Given the description of an element on the screen output the (x, y) to click on. 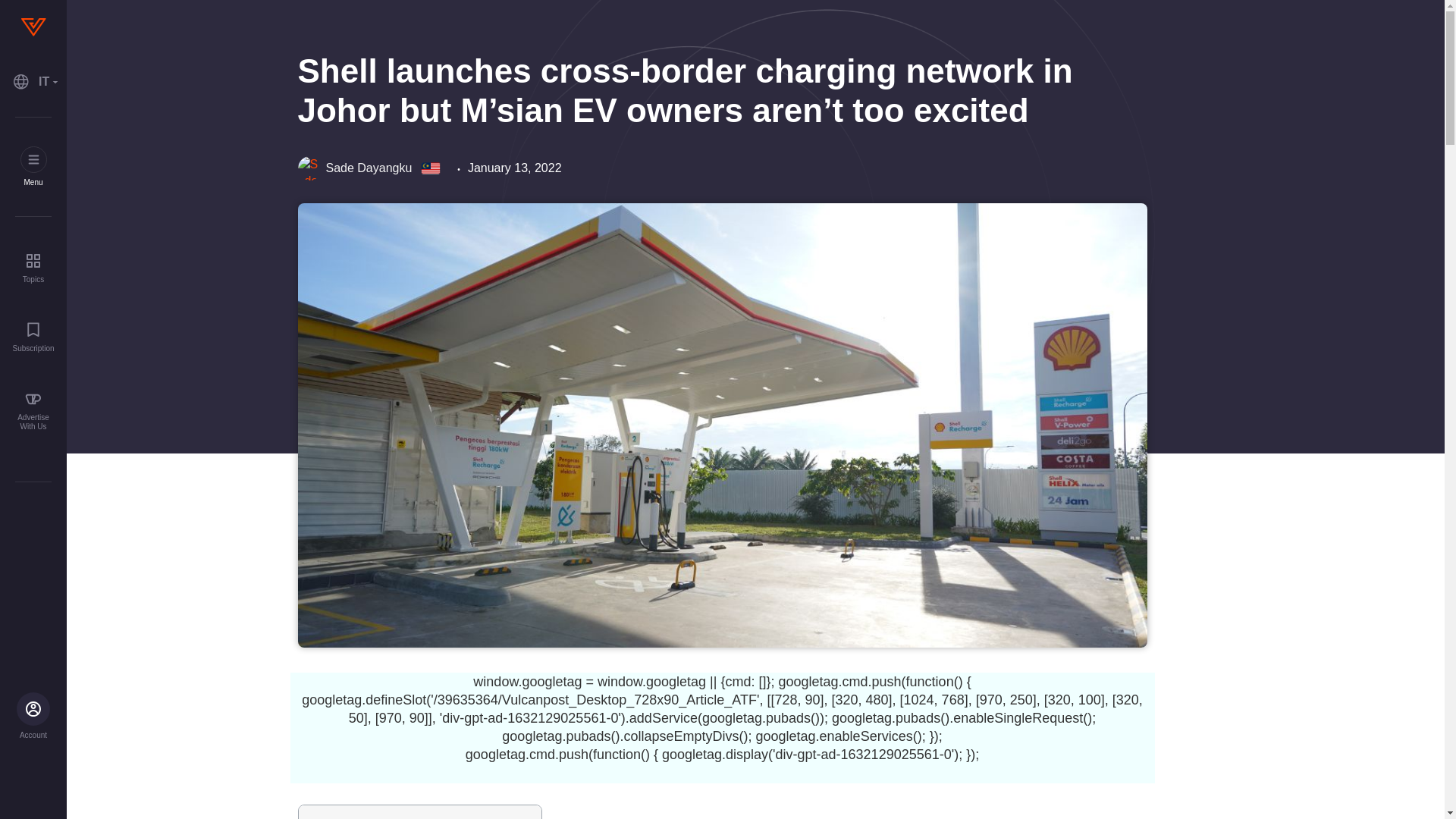
Menu (33, 166)
IT (33, 81)
Topics (33, 267)
Subscription (33, 336)
Sade Dayangku (354, 168)
Advertise With Us (33, 410)
